Given the description of an element on the screen output the (x, y) to click on. 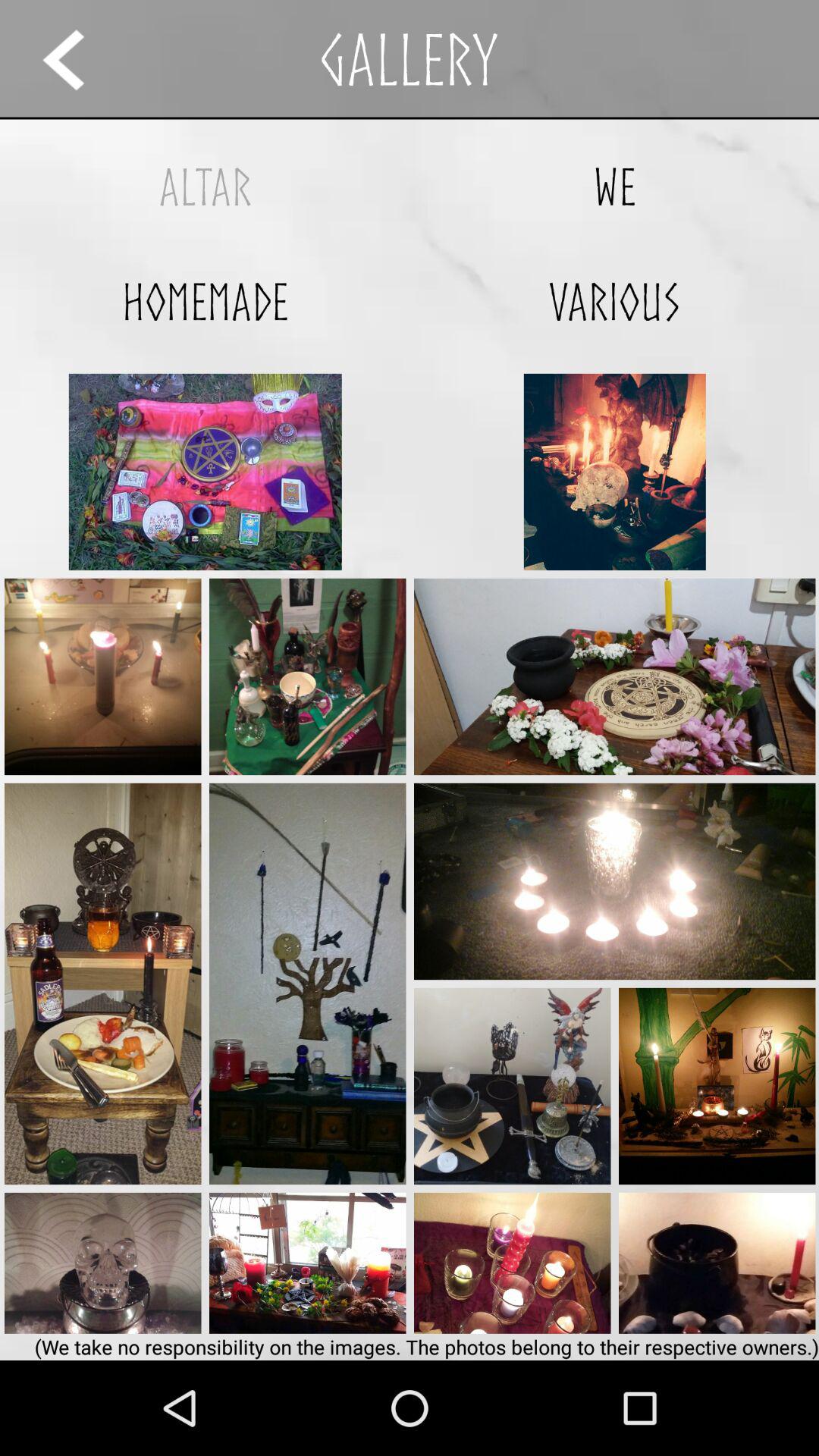
open various item (614, 301)
